Given the description of an element on the screen output the (x, y) to click on. 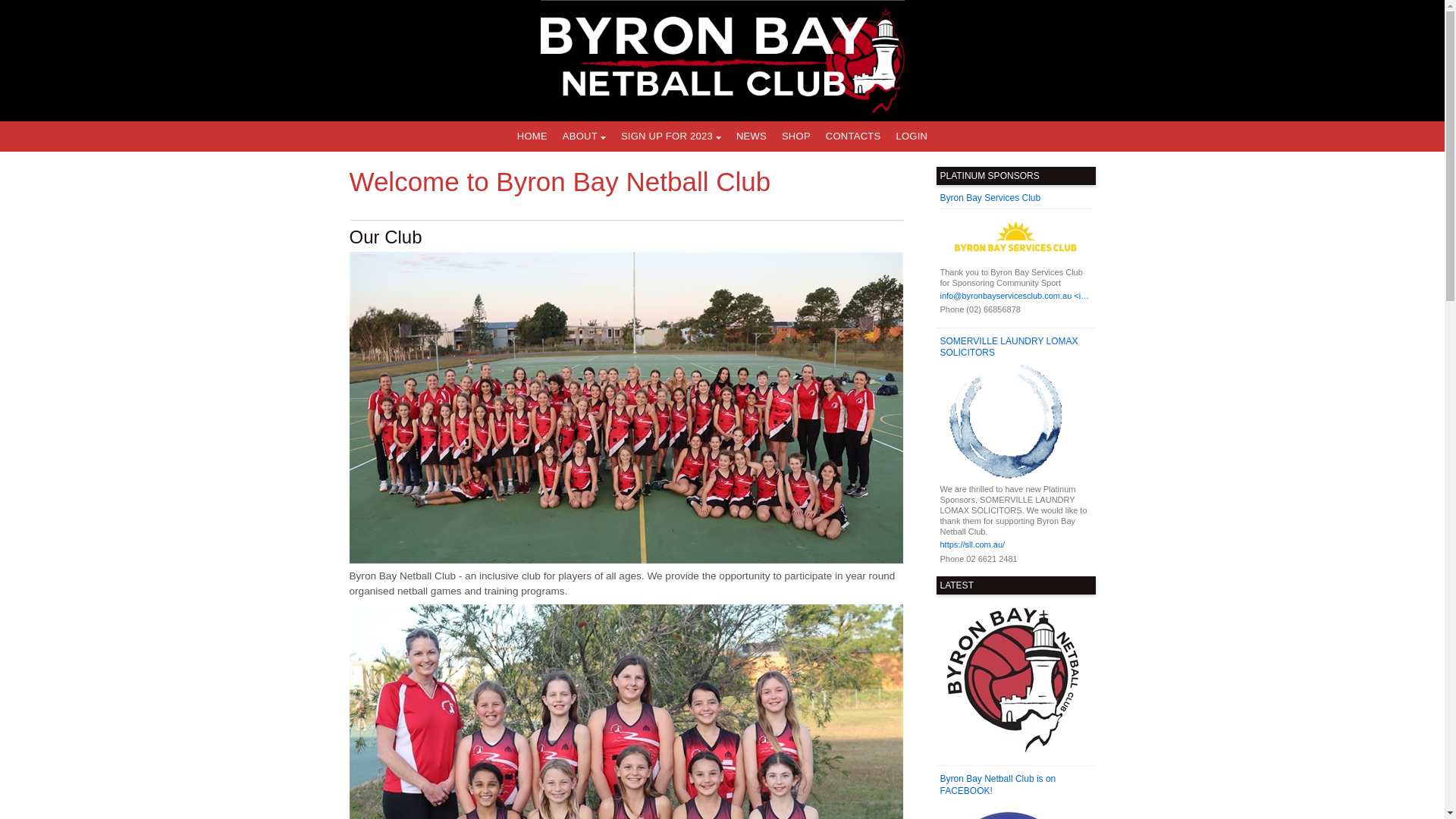
NEWS Element type: text (751, 136)
CONTACTS Element type: text (853, 136)
LOGIN Element type: text (911, 136)
ABOUT Element type: text (584, 136)
SHOP Element type: text (796, 136)
https://sll.com.au/ Element type: text (1016, 545)
SOMERVILLE LAUNDRY LOMAX SOLICITORS Element type: text (1016, 347)
SIGN UP FOR 2023 Element type: text (670, 136)
Byron Bay Services Club Element type: text (1016, 198)
Byron Bay Netball Club is on FACEBOOK! Element type: text (1016, 785)
HOME Element type: text (532, 136)
